Given the description of an element on the screen output the (x, y) to click on. 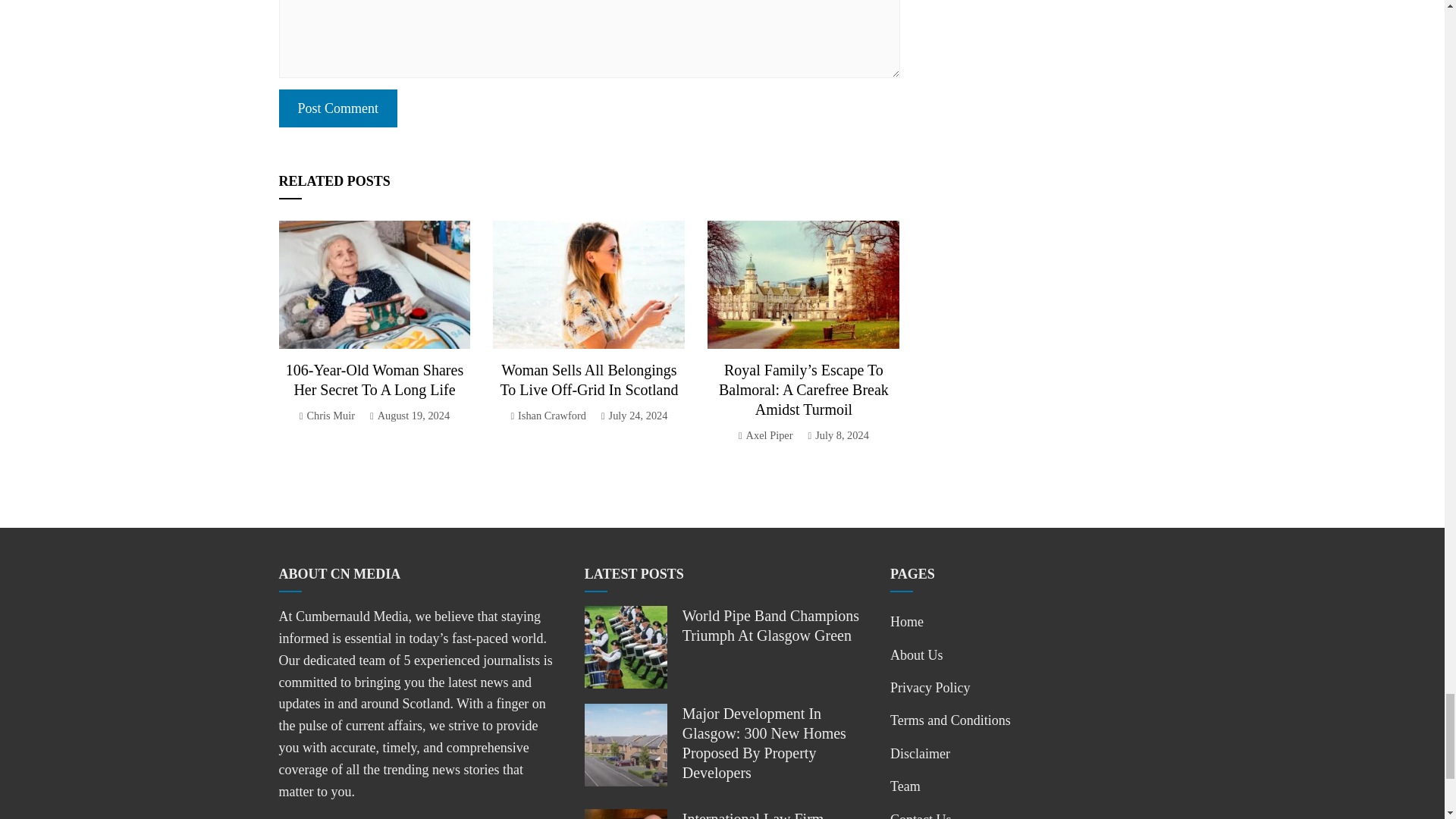
Post Comment (338, 108)
Post Comment (338, 108)
Woman Sells All Belongings to Live Off-Grid in Scotland (589, 379)
106-Year-Old Woman Shares Her Secret To A Long Life (374, 379)
106-Year-Old Woman Shares Her Secret to a Long Life (374, 379)
